Given the description of an element on the screen output the (x, y) to click on. 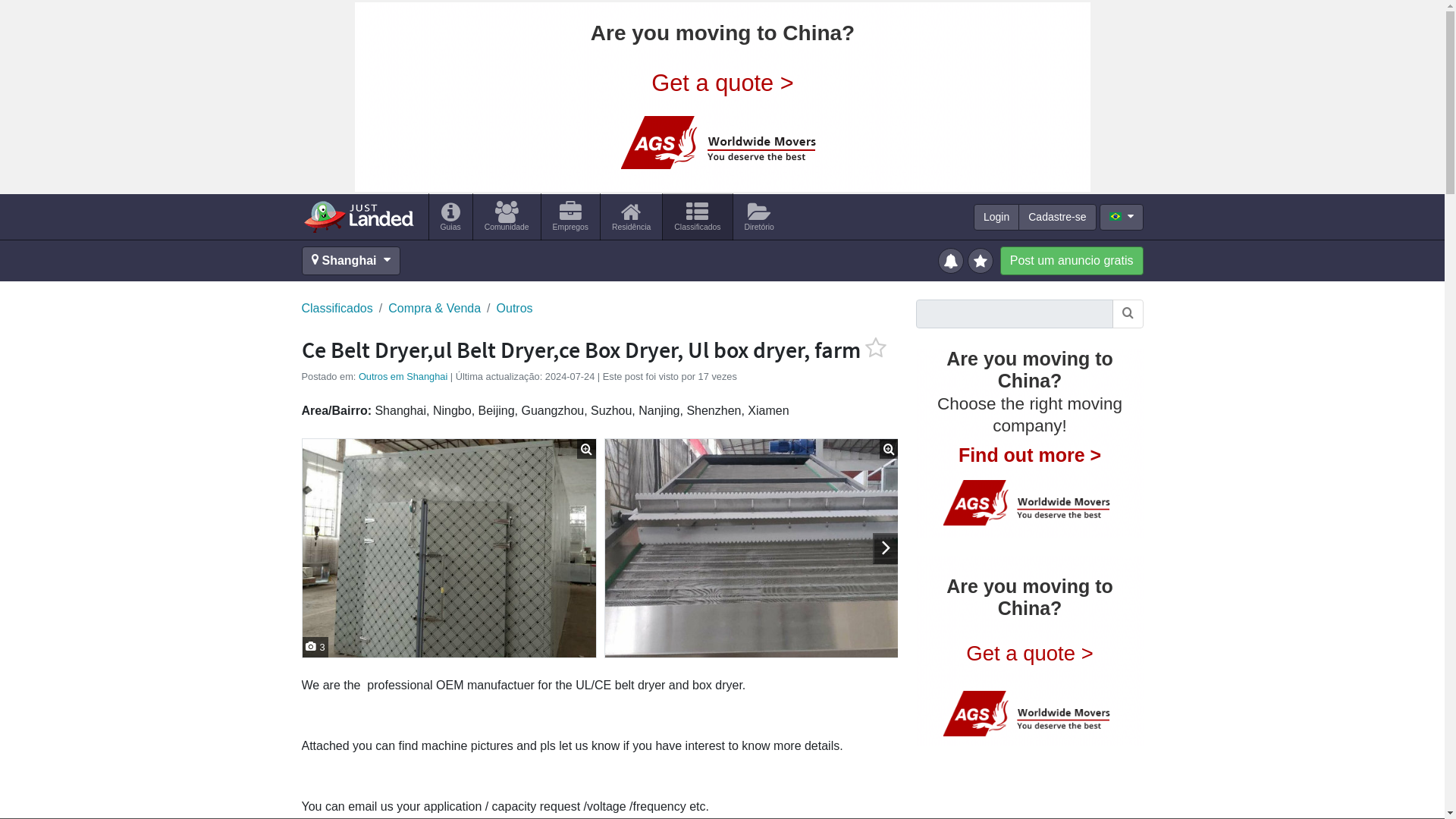
Alerts (952, 259)
Just Landed (357, 216)
Guias (450, 216)
Empregos em Shanghai (570, 216)
Classificados em Shanghai (697, 216)
Comunidade em Shanghai (506, 216)
Login (996, 216)
Post um anuncio gratis (1071, 260)
Classificados (336, 308)
Comunidade (506, 216)
Guias (450, 216)
Outros em Shanghai (402, 376)
Outros (514, 308)
Cadastre-se (1056, 216)
